Given the description of an element on the screen output the (x, y) to click on. 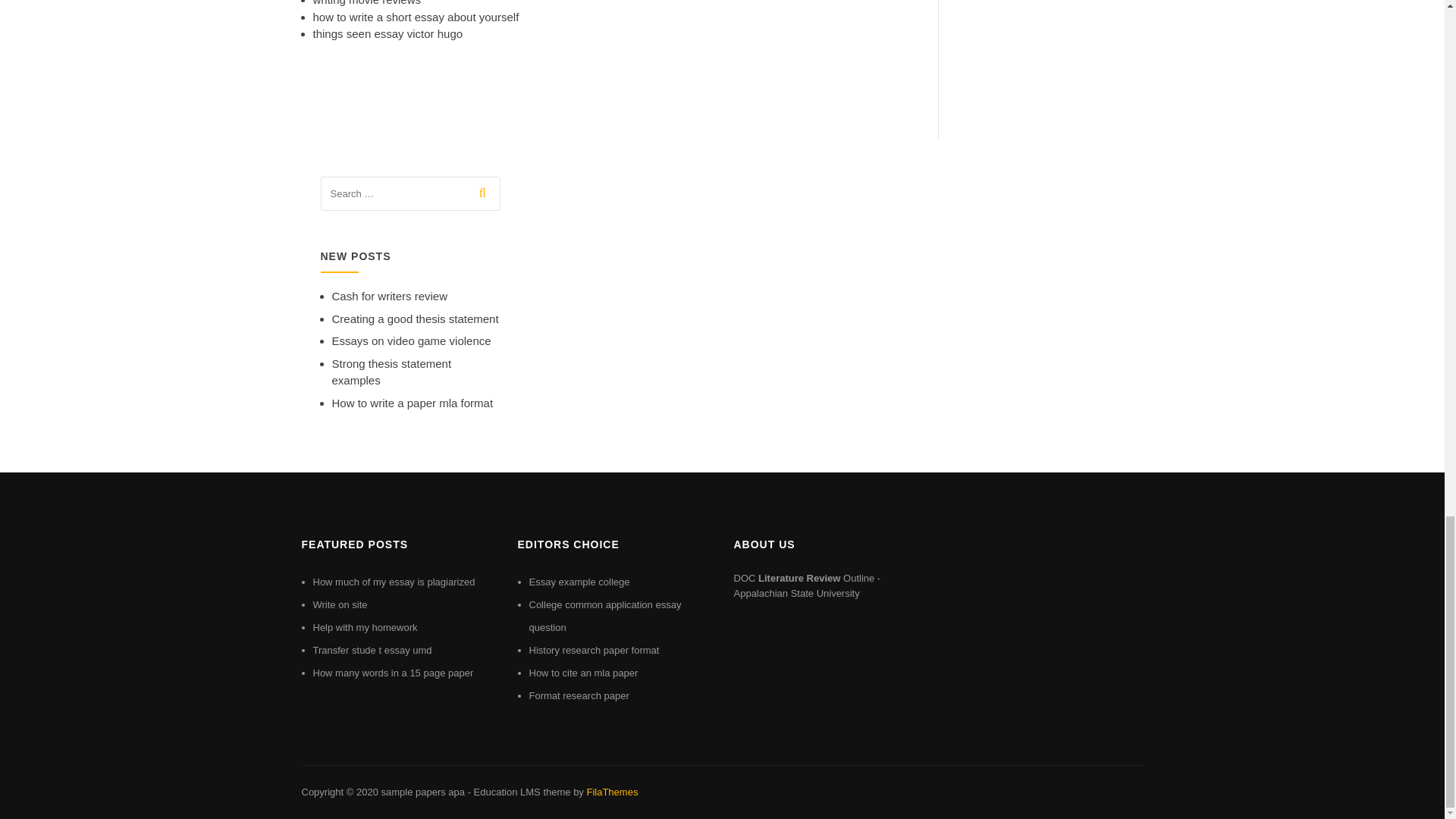
sample papers apa (422, 791)
writing movie reviews (366, 2)
Write on site (339, 604)
Creating a good thesis statement (415, 318)
sample papers apa (422, 791)
Format research paper (578, 695)
Transfer stude t essay umd (371, 650)
How much of my essay is plagiarized (393, 582)
History research paper format (594, 650)
College common application essay question (605, 615)
